Given the description of an element on the screen output the (x, y) to click on. 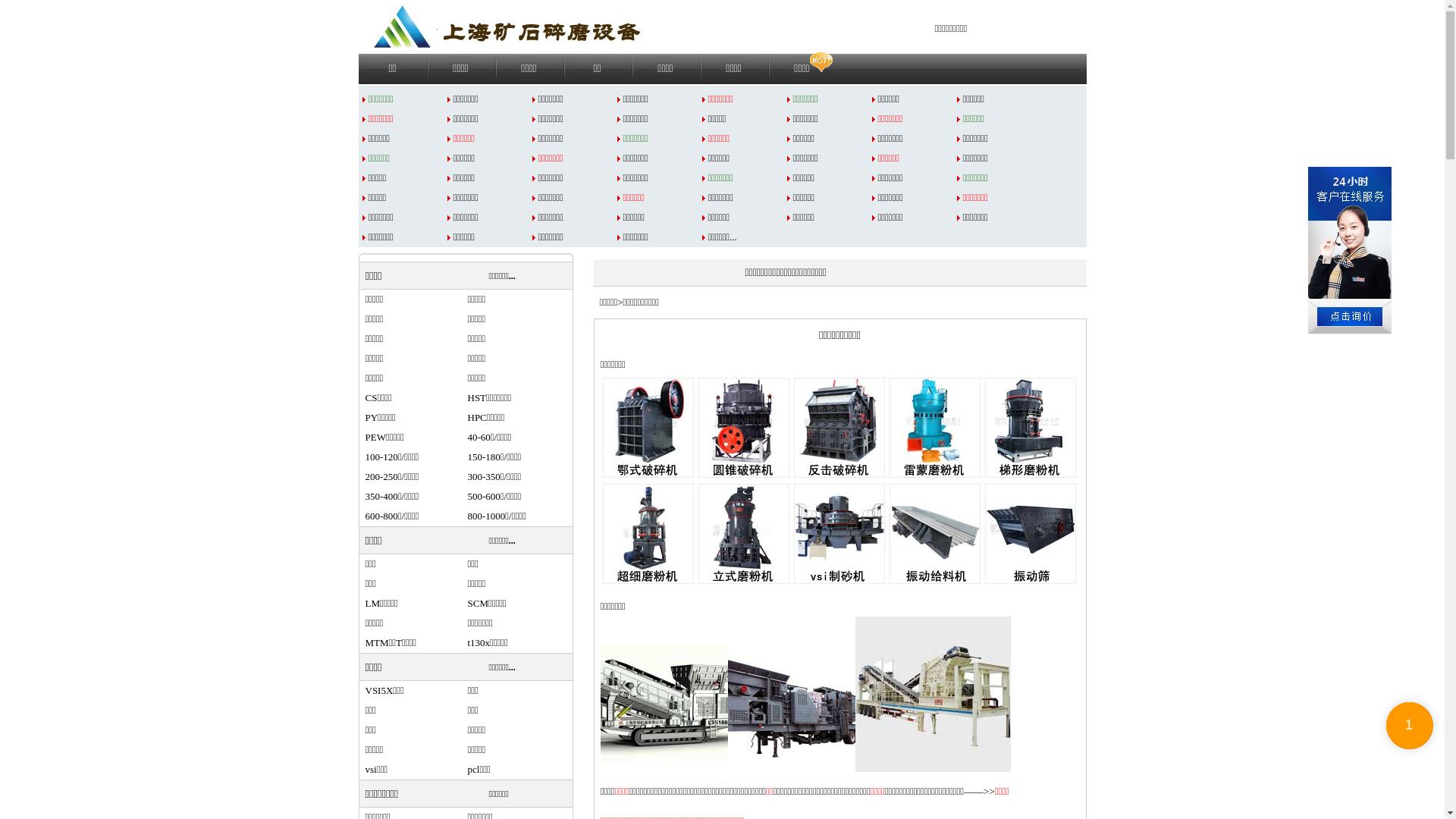
1 Element type: text (1409, 725)
